Given the description of an element on the screen output the (x, y) to click on. 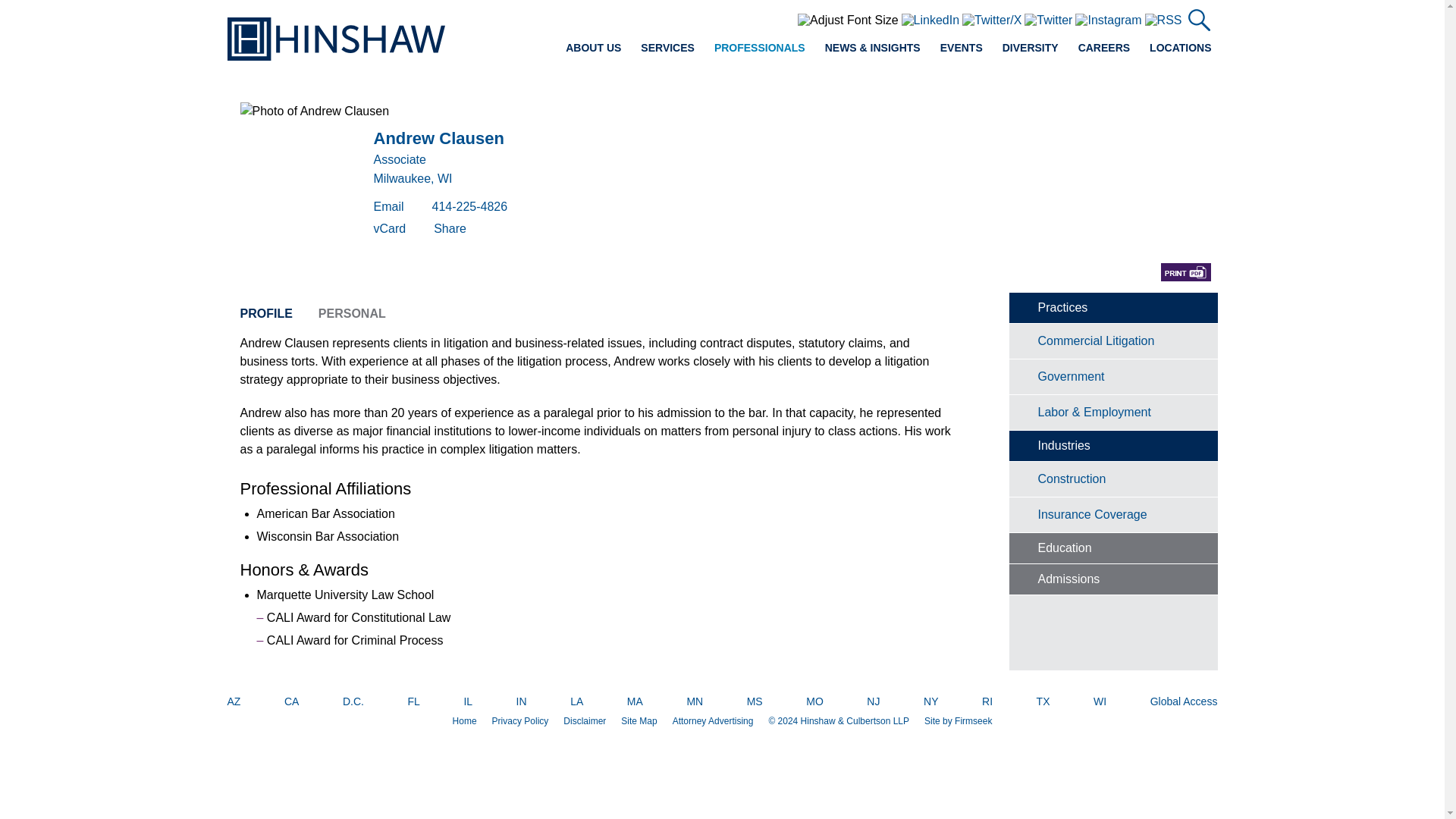
ABOUT US (593, 47)
Main Menu (680, 16)
SERVICES (667, 47)
PROFESSIONALS (759, 47)
Menu (680, 16)
Main Content (674, 16)
Share (449, 228)
